Given the description of an element on the screen output the (x, y) to click on. 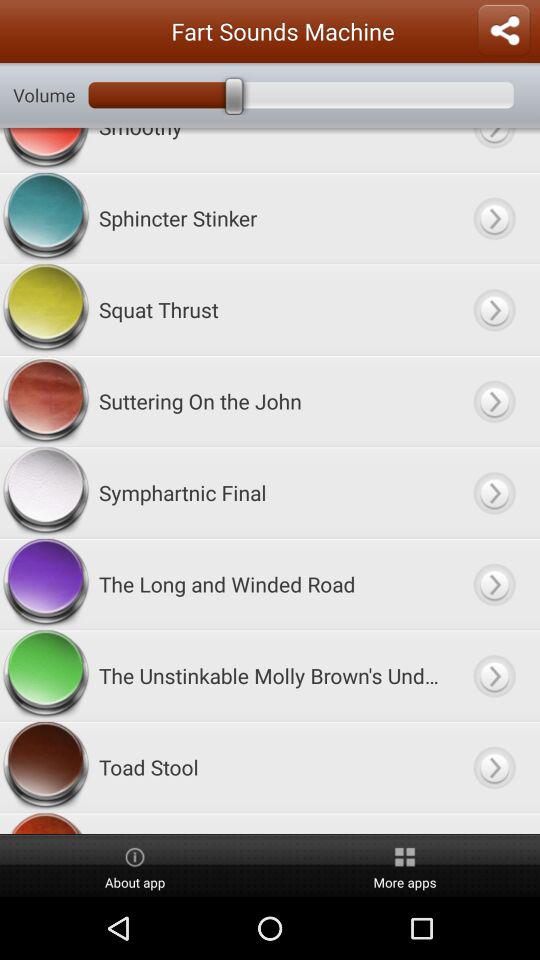
open symphartnic final tab (494, 492)
